Given the description of an element on the screen output the (x, y) to click on. 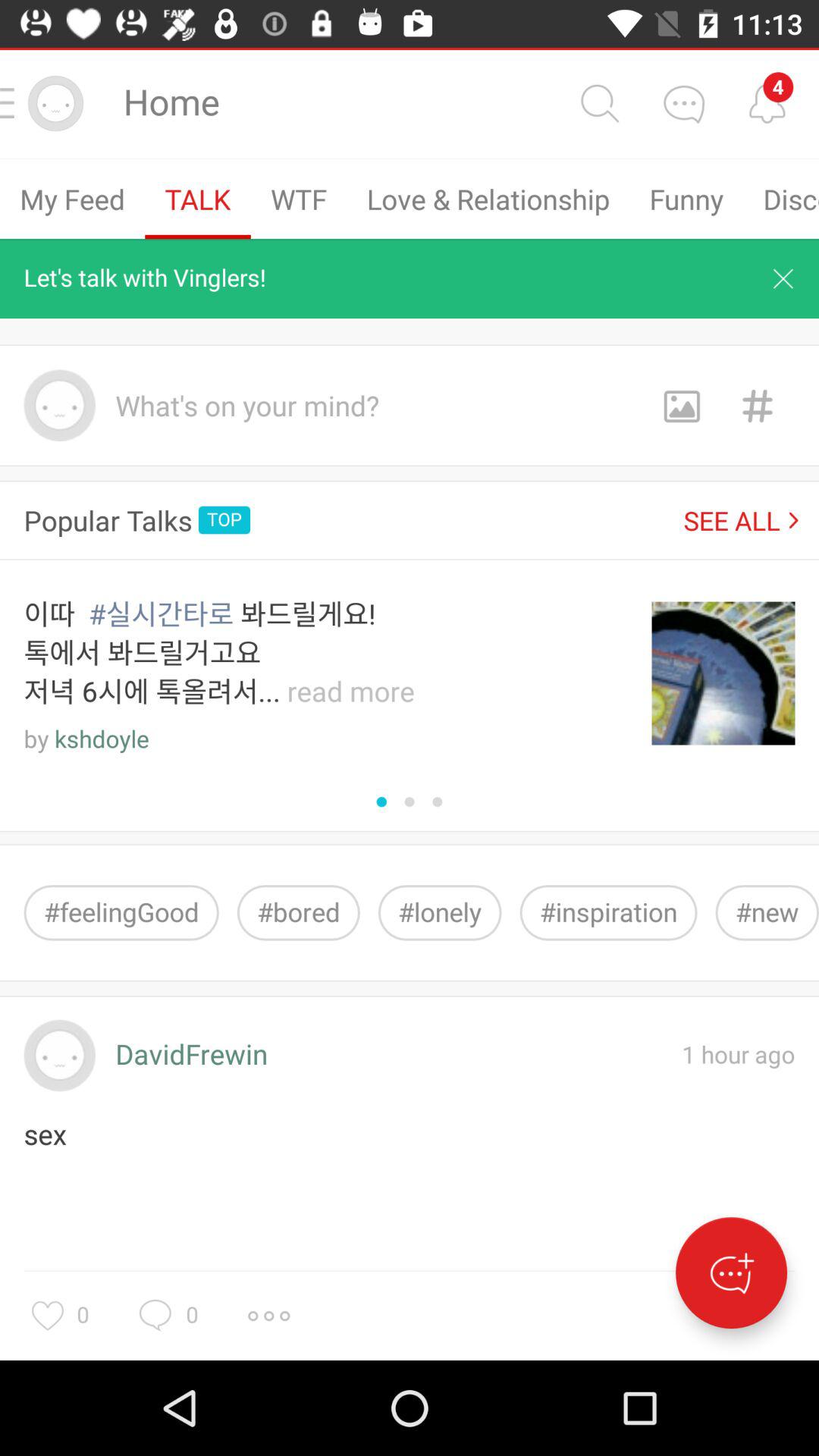
close the page (783, 278)
